Given the description of an element on the screen output the (x, y) to click on. 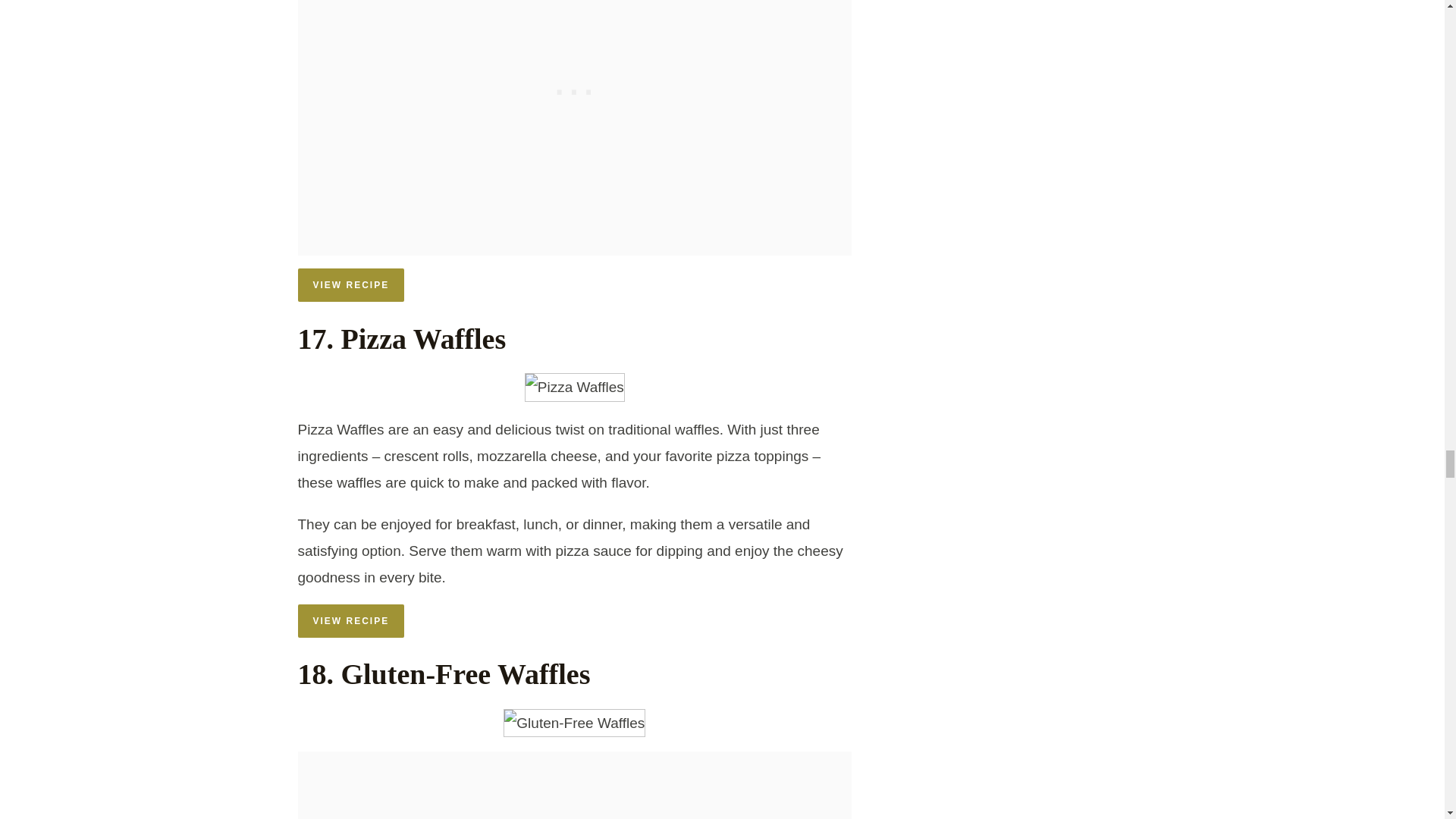
VIEW RECIPE (350, 285)
VIEW RECIPE (350, 621)
